Given the description of an element on the screen output the (x, y) to click on. 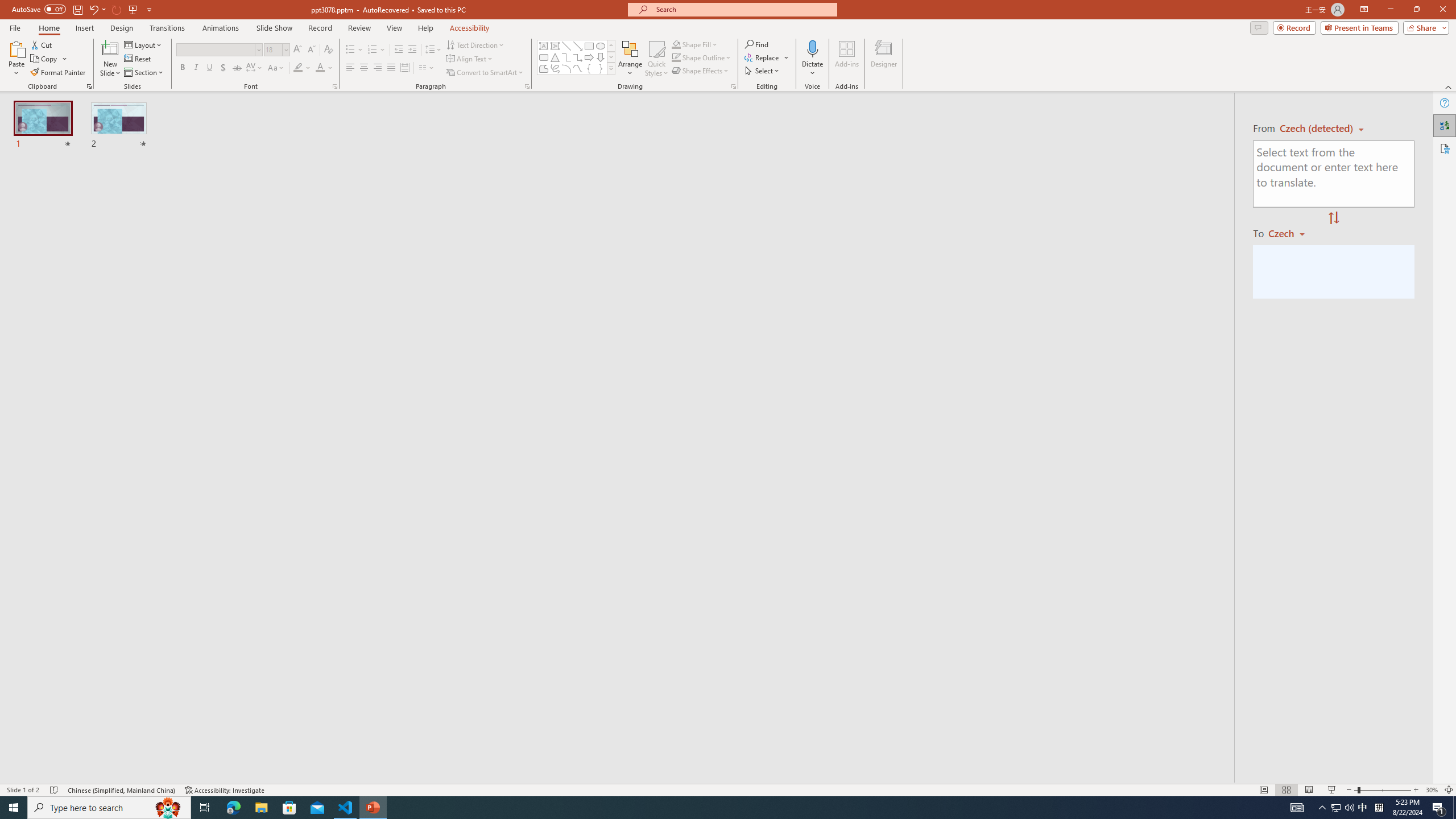
Ports - 5 forwarded ports (660, 533)
No Problems (121, 766)
Extensions (Ctrl+Shift+X) (76, 397)
Explorer actions (221, 183)
Launch Profile... (955, 533)
Transformer Circuits Thread (713, 78)
Outline Section (188, 725)
